Given the description of an element on the screen output the (x, y) to click on. 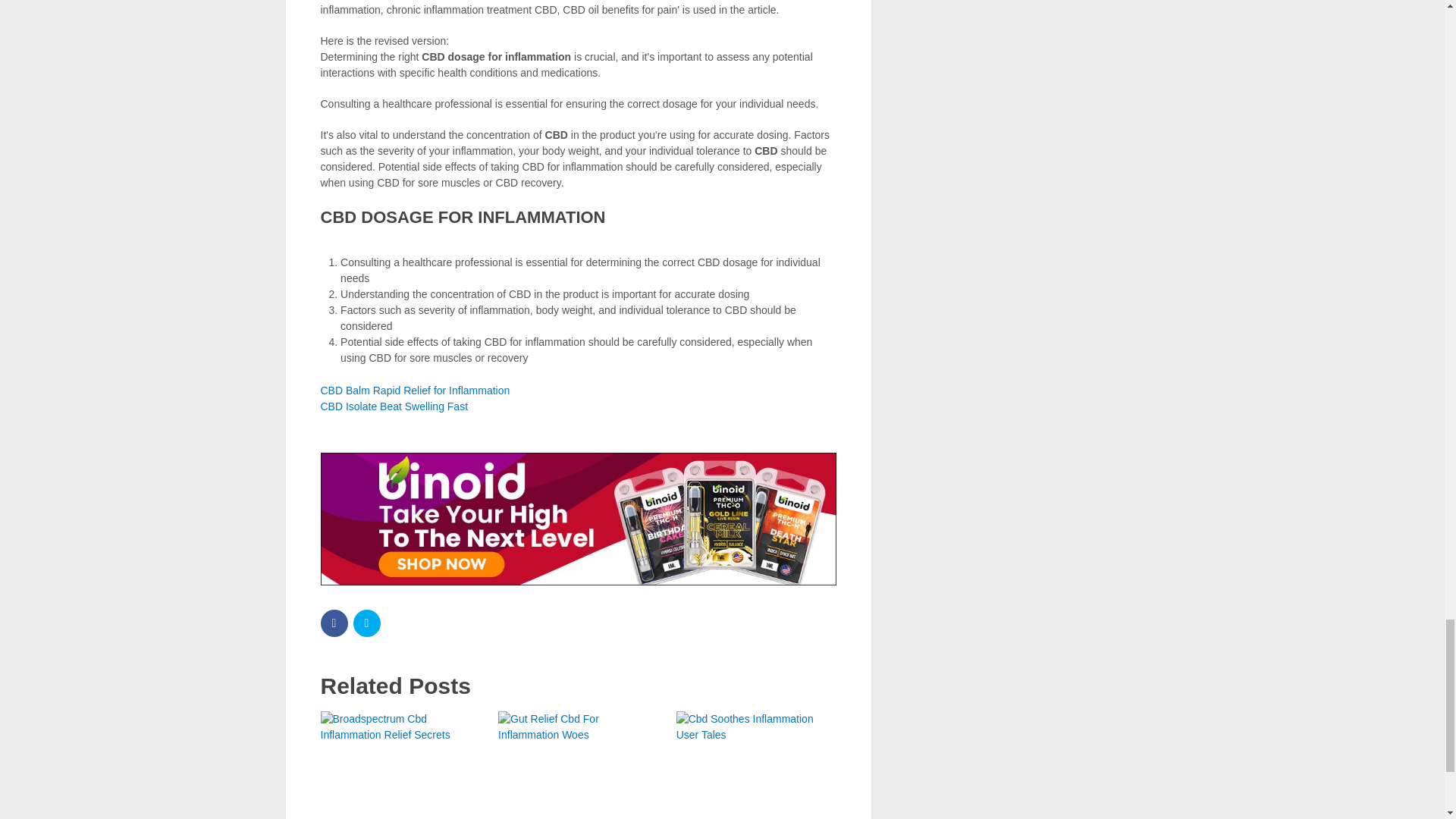
BroadSpectrum CBD Inflammation Relief Secrets (400, 765)
CBD Isolate Beat Swelling Fast (393, 406)
CBD Balm Rapid Relief for Inflammation (414, 390)
